Given the description of an element on the screen output the (x, y) to click on. 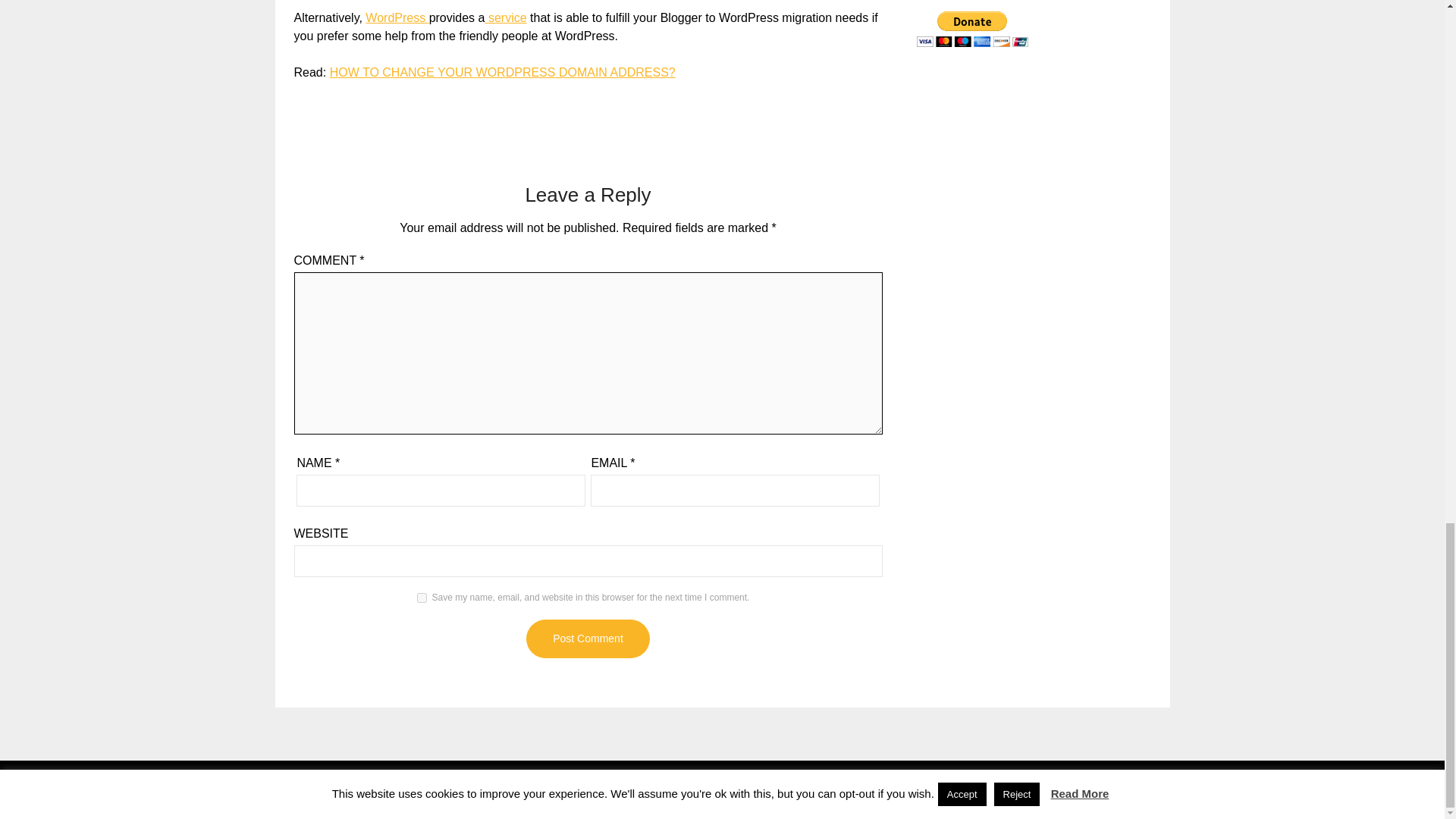
Post Comment (587, 638)
Post Comment (587, 638)
HOW TO CHANGE YOUR WORDPRESS DOMAIN ADDRESS? (502, 72)
WordPress (396, 17)
yes (421, 597)
service (504, 17)
